Given the description of an element on the screen output the (x, y) to click on. 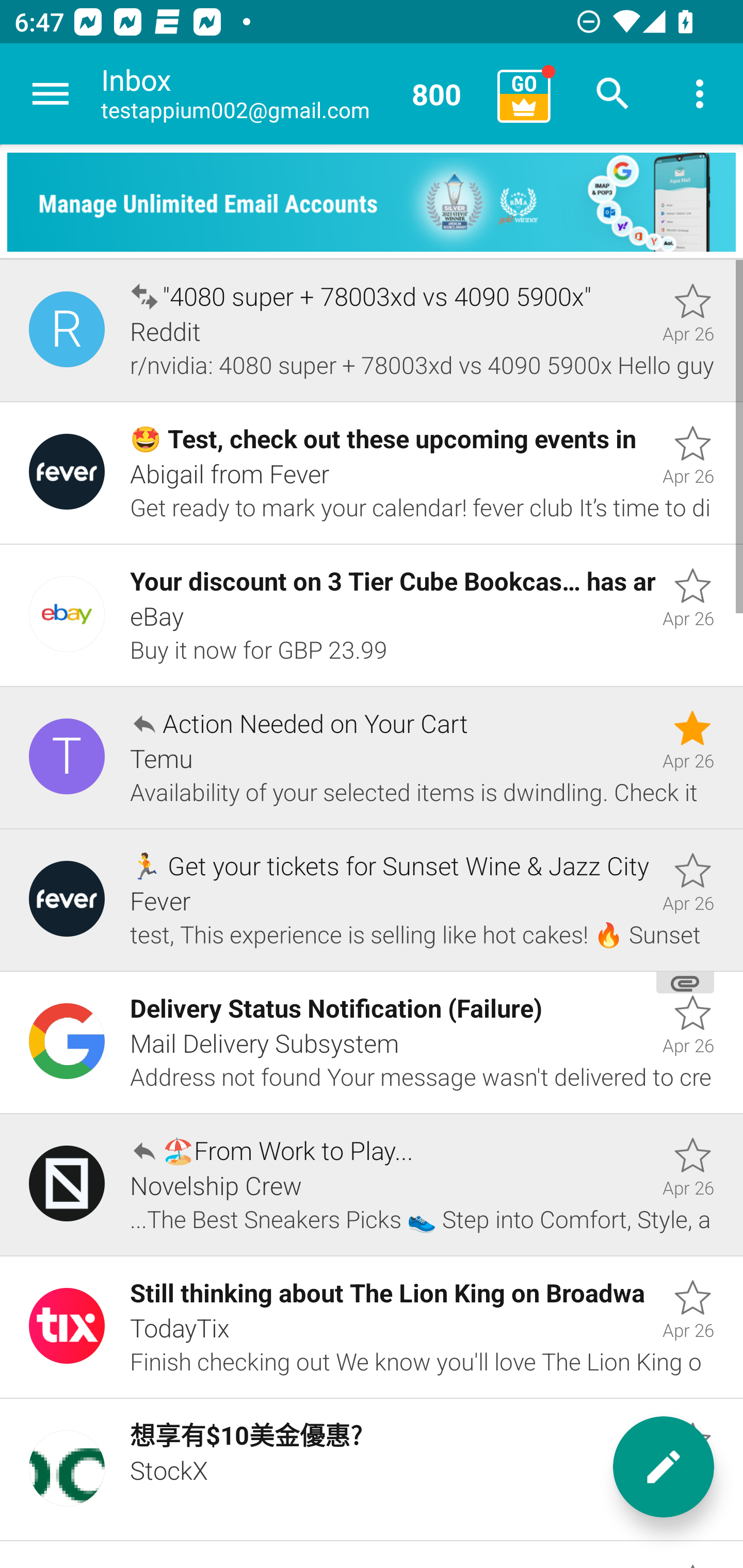
Navigate up (50, 93)
Inbox testappium002@gmail.com 800 (291, 93)
Search (612, 93)
More options (699, 93)
Unread, 想享有$10美金優惠?, StockX, Apr 26 (371, 1469)
New message (663, 1466)
